Given the description of an element on the screen output the (x, y) to click on. 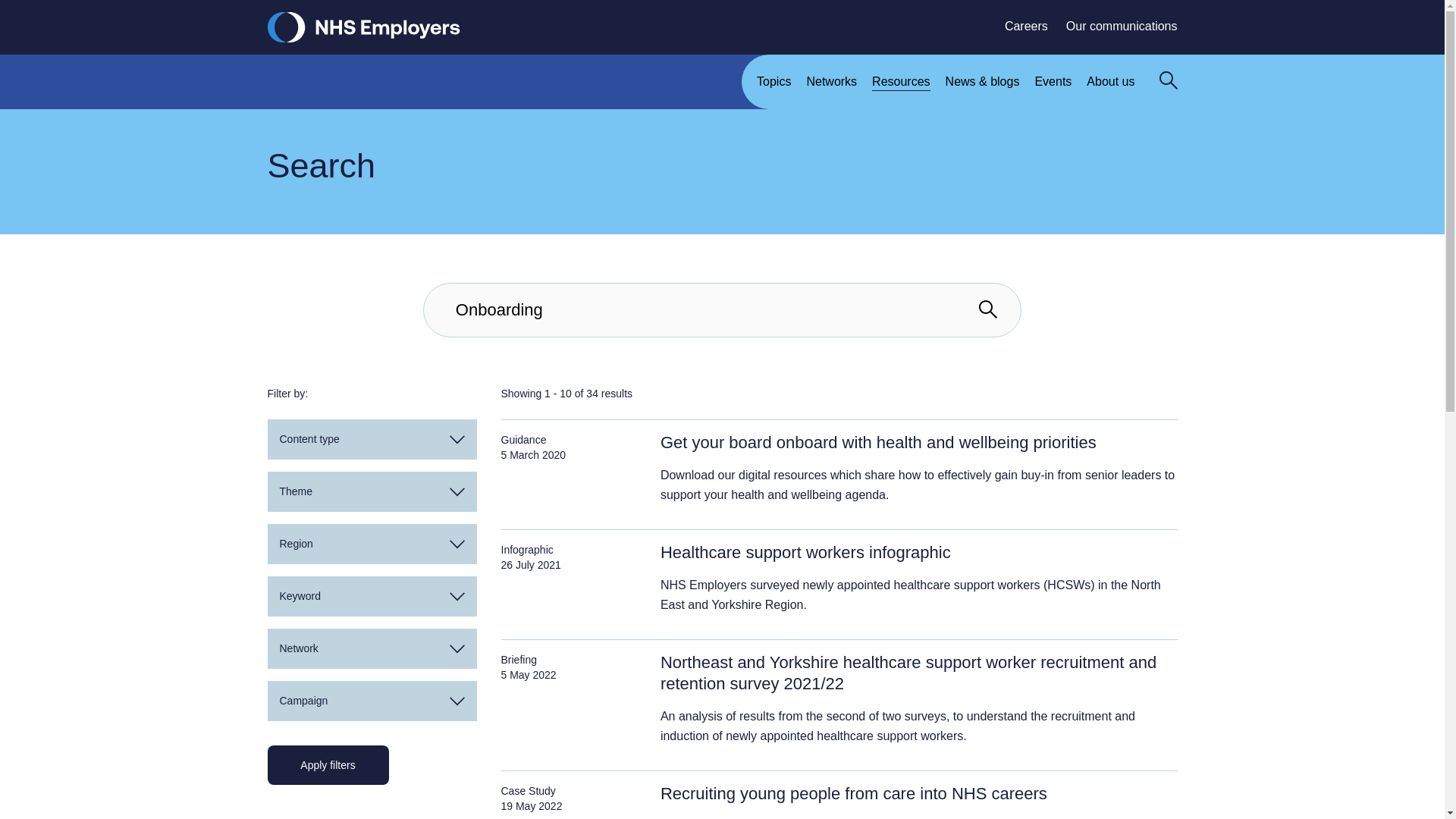
Onboarding (722, 309)
RSS icon (1168, 783)
Careers (1017, 26)
Linkedin icon (1116, 784)
Search all content (987, 309)
Twitter logo (1089, 784)
Our communications (1112, 26)
Youtube icon (1142, 784)
Topics (765, 90)
